Given the description of an element on the screen output the (x, y) to click on. 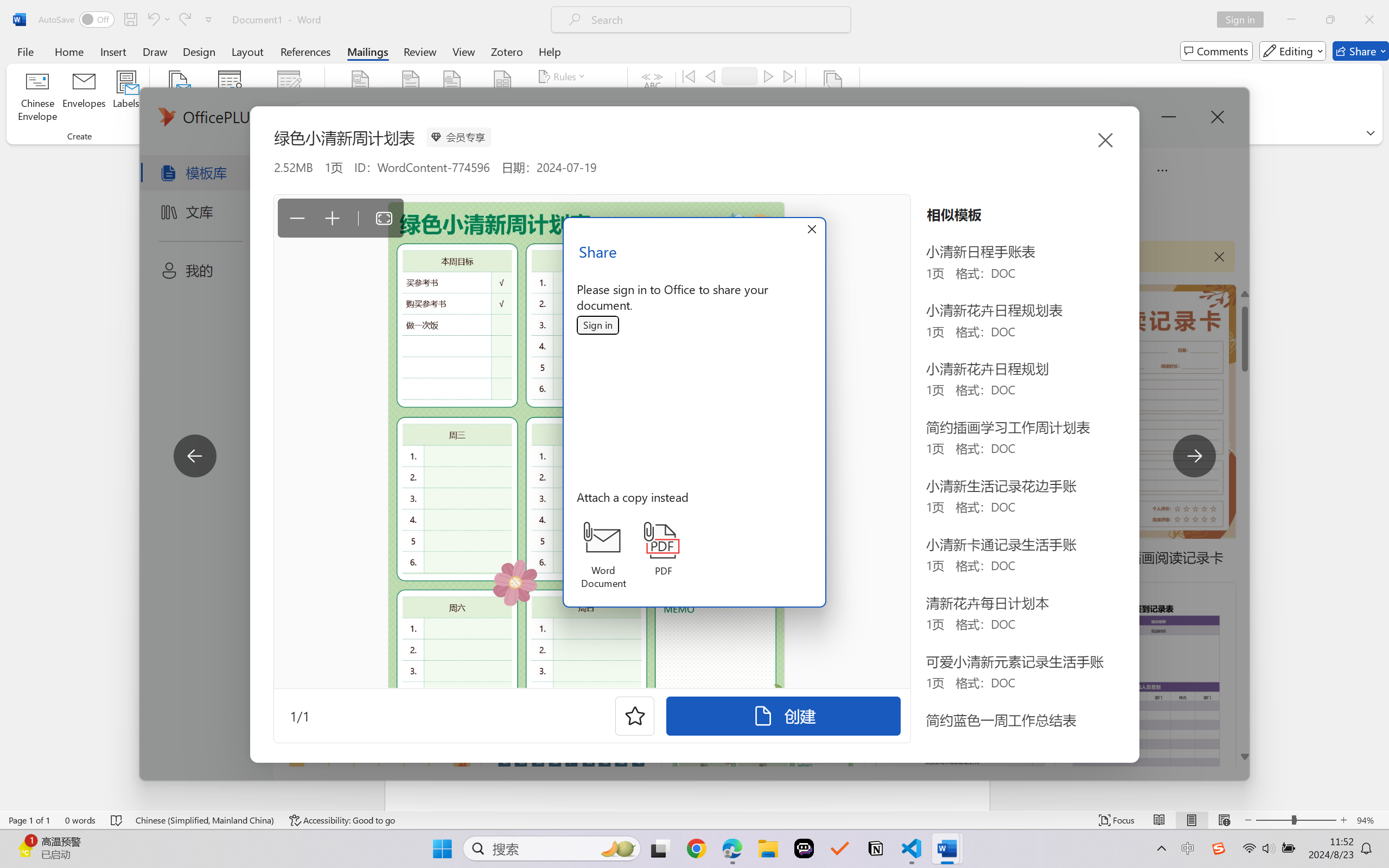
Update Labels (576, 118)
Insert Merge Field (502, 97)
Highlight Merge Fields (360, 97)
Rules (563, 75)
Finish & Merge (832, 97)
